Given the description of an element on the screen output the (x, y) to click on. 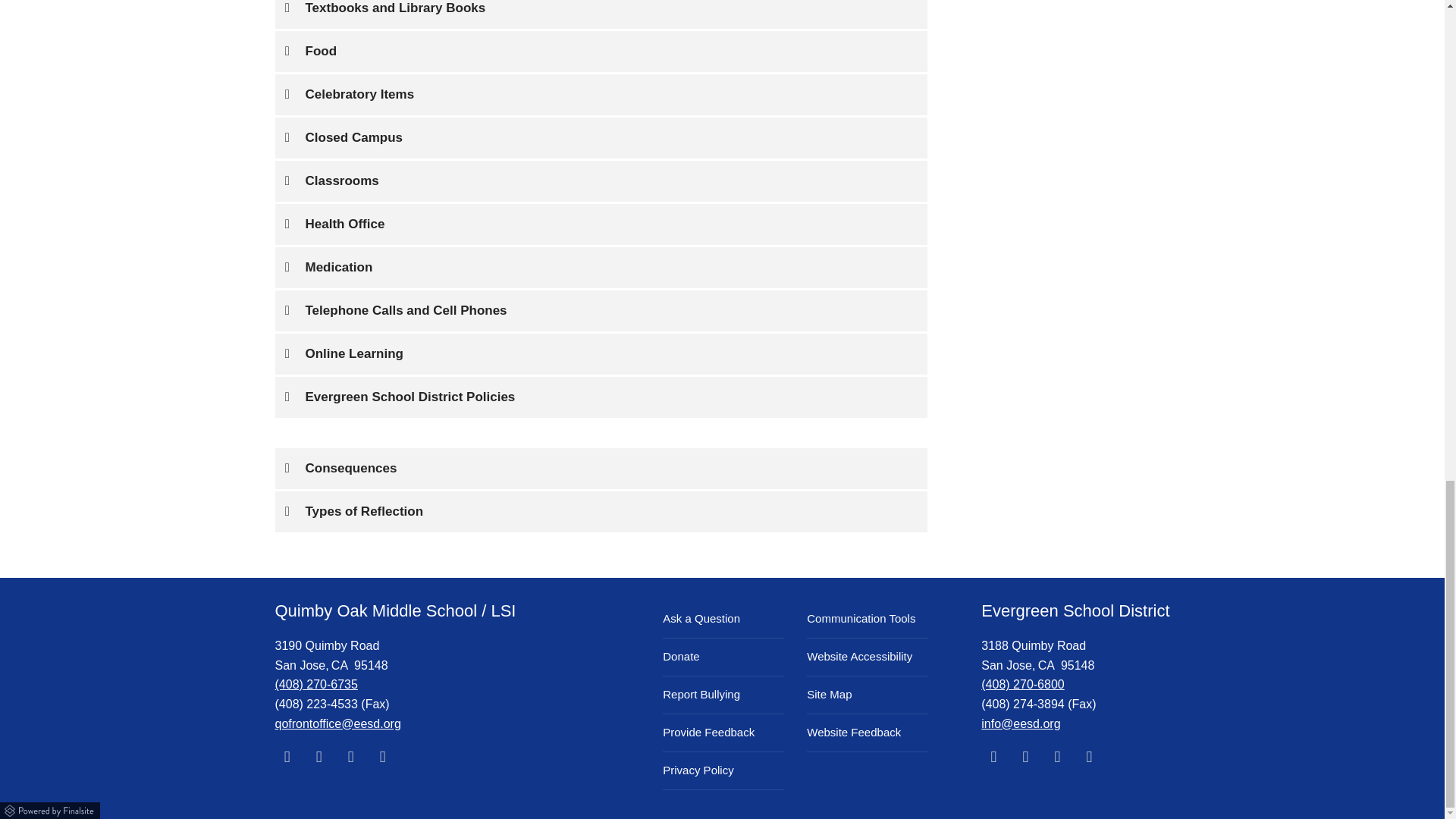
Powered by Finalsite opens in a new window (50, 808)
Email (1020, 723)
Email (337, 723)
